Given the description of an element on the screen output the (x, y) to click on. 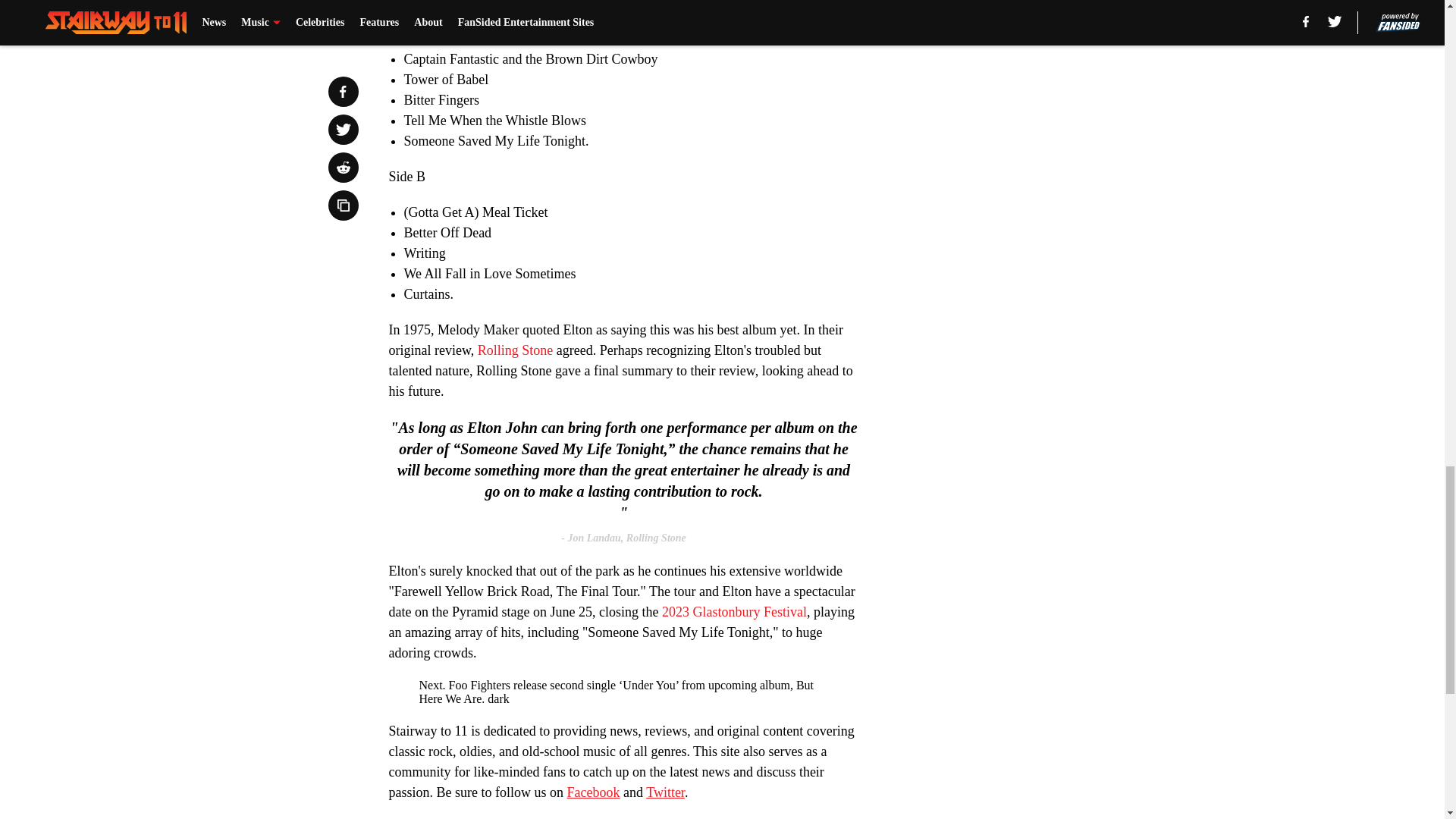
Facebook (593, 792)
Twitter (665, 792)
Rolling Stone (515, 350)
2023 Glastonbury Festival (734, 611)
